Given the description of an element on the screen output the (x, y) to click on. 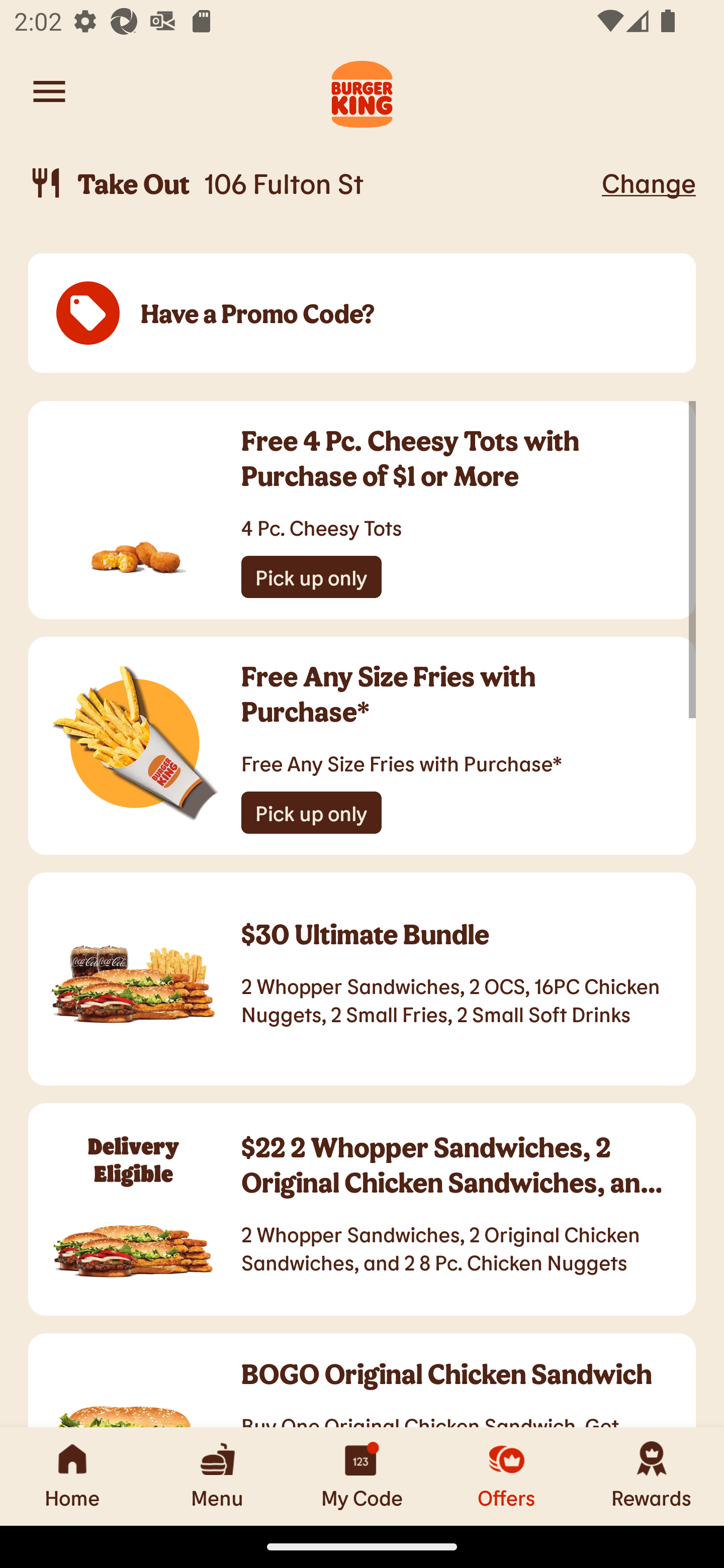
Burger King Logo. Navigate to Home (362, 91)
Navigate to account menu  (49, 91)
Take Out, 106 Fulton St  Take Out 106 Fulton St (311, 183)
Change (648, 182)
Have a Promo Code?  Have a Promo Code? (361, 313)
Home (72, 1475)
Menu (216, 1475)
My Code (361, 1475)
Offers (506, 1475)
Rewards (651, 1475)
